Given the description of an element on the screen output the (x, y) to click on. 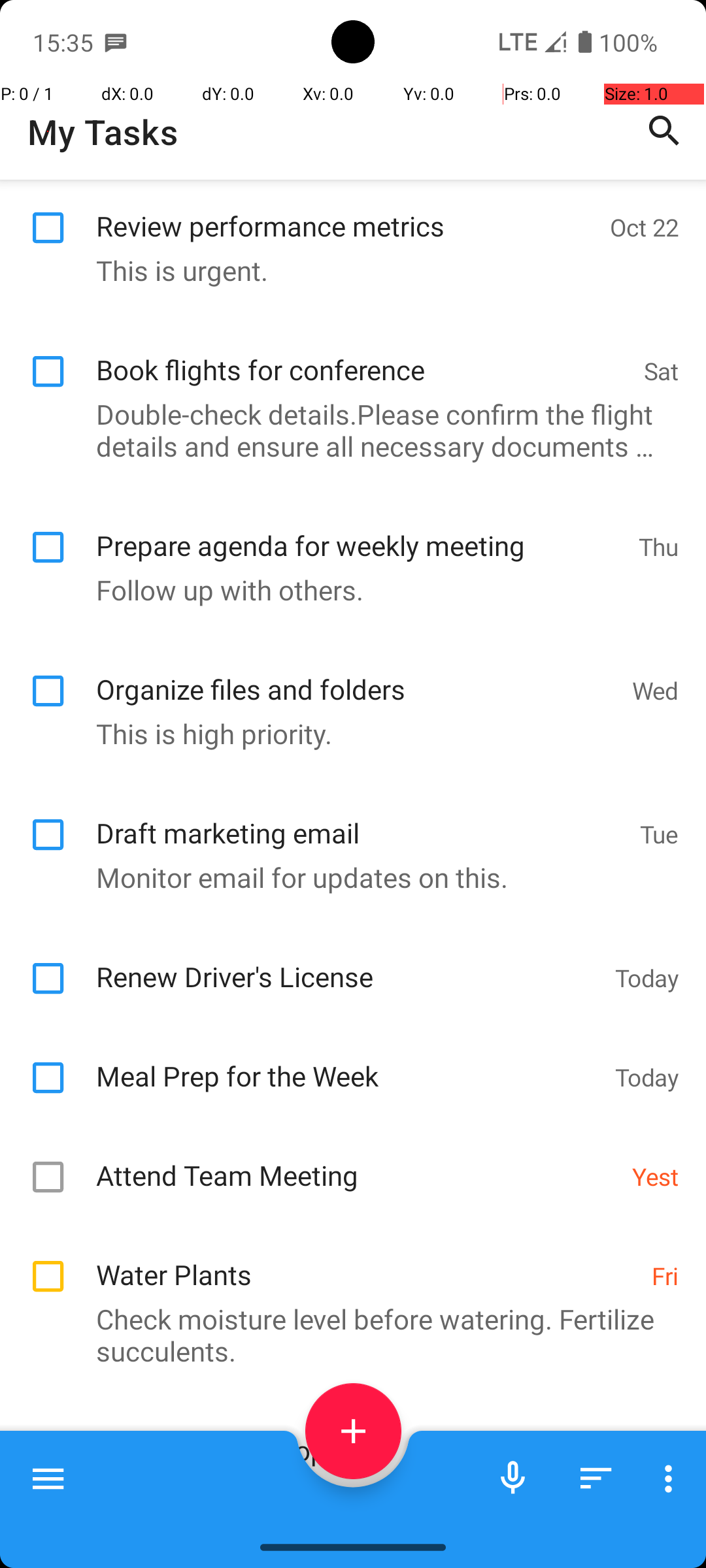
Review performance metrics Element type: android.widget.TextView (346, 211)
This is urgent. Element type: android.widget.TextView (346, 269)
Oct 22 Element type: android.widget.TextView (644, 226)
Book flights for conference Element type: android.widget.TextView (363, 355)
Double-check details.Please confirm the flight details and ensure all necessary documents are prepared. Element type: android.widget.TextView (346, 429)
Prepare agenda for weekly meeting Element type: android.widget.TextView (360, 520)
Follow up with others. Element type: android.widget.TextView (346, 578)
Organize files and folders Element type: android.widget.TextView (357, 663)
This is high priority. Element type: android.widget.TextView (346, 721)
Draft marketing email Element type: android.widget.TextView (361, 807)
Monitor email for updates on this. Element type: android.widget.TextView (346, 865)
Check moisture level before watering. Fertilize succulents. Element type: android.widget.TextView (346, 1326)
